Given the description of an element on the screen output the (x, y) to click on. 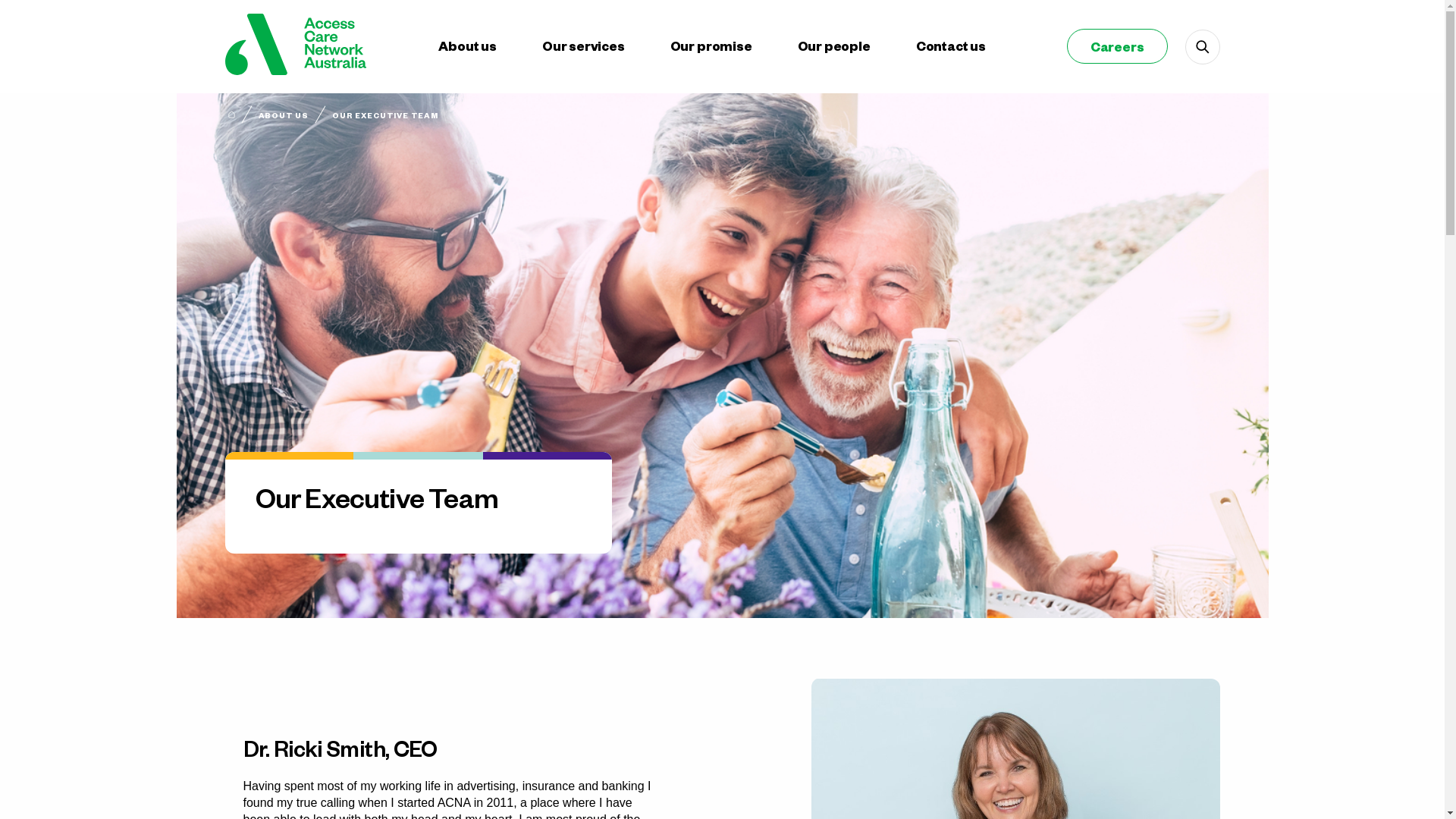
Careers Element type: text (1116, 45)
Our services Element type: text (583, 45)
ABOUT US Element type: text (282, 114)
Our promise Element type: text (711, 45)
About us Element type: text (466, 45)
OUR EXECUTIVE TEAM Element type: text (385, 114)
Contact us Element type: text (950, 45)
Our people Element type: text (834, 45)
HOME Element type: text (230, 114)
